Given the description of an element on the screen output the (x, y) to click on. 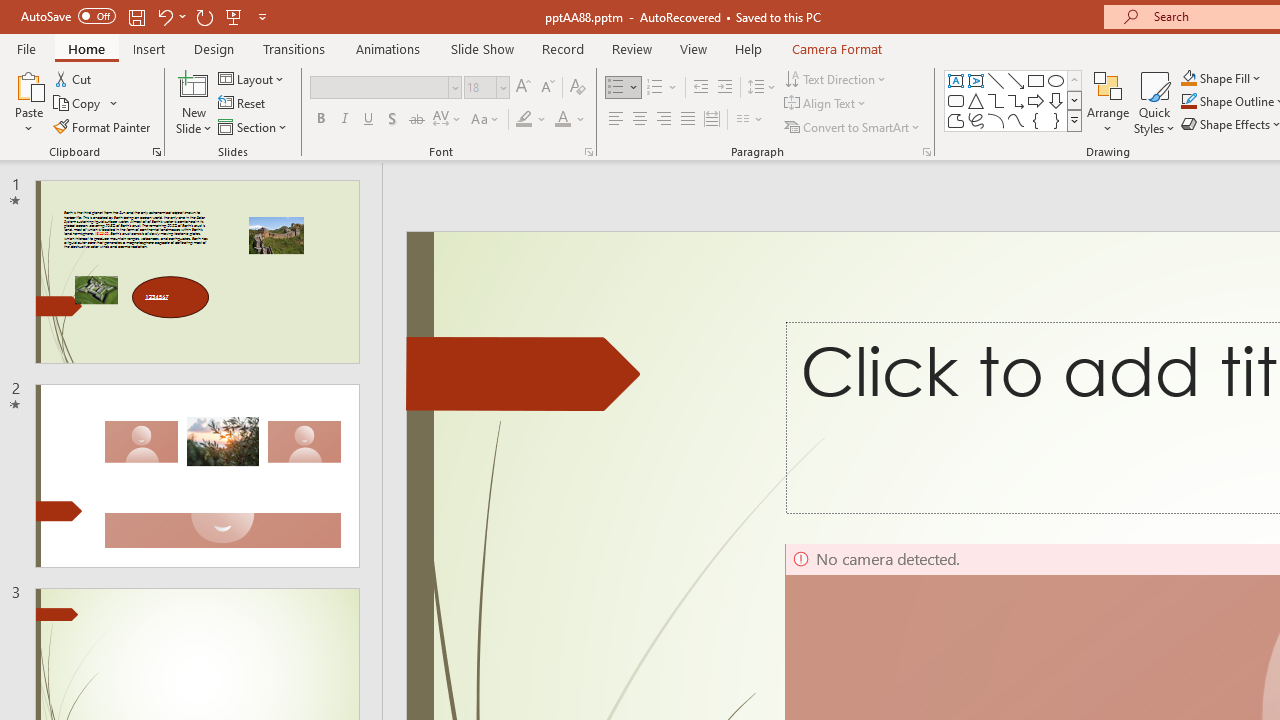
Connector: Elbow Arrow (1016, 100)
Connector: Elbow (995, 100)
Right Brace (1055, 120)
Justify (687, 119)
Shapes (1074, 120)
Design (214, 48)
Copy (85, 103)
Distributed (712, 119)
Shape Fill Aqua, Accent 2 (1188, 78)
Font Color Red (562, 119)
Office Clipboard... (156, 151)
Rectangle: Rounded Corners (955, 100)
More Options (1232, 78)
Freeform: Shape (955, 120)
Text Highlight Color (531, 119)
